Given the description of an element on the screen output the (x, y) to click on. 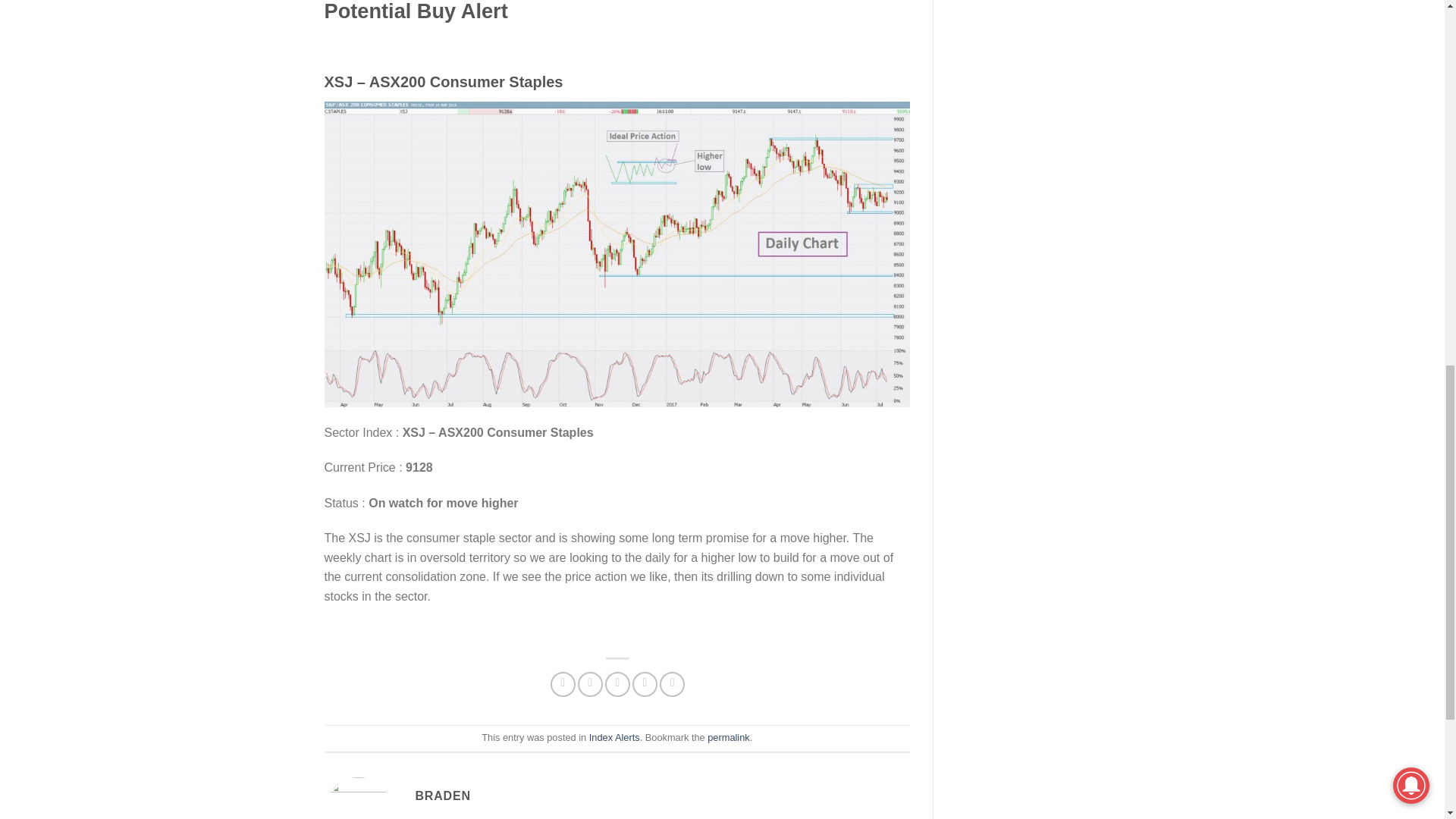
Index Alerts (614, 737)
permalink (728, 737)
